Given the description of an element on the screen output the (x, y) to click on. 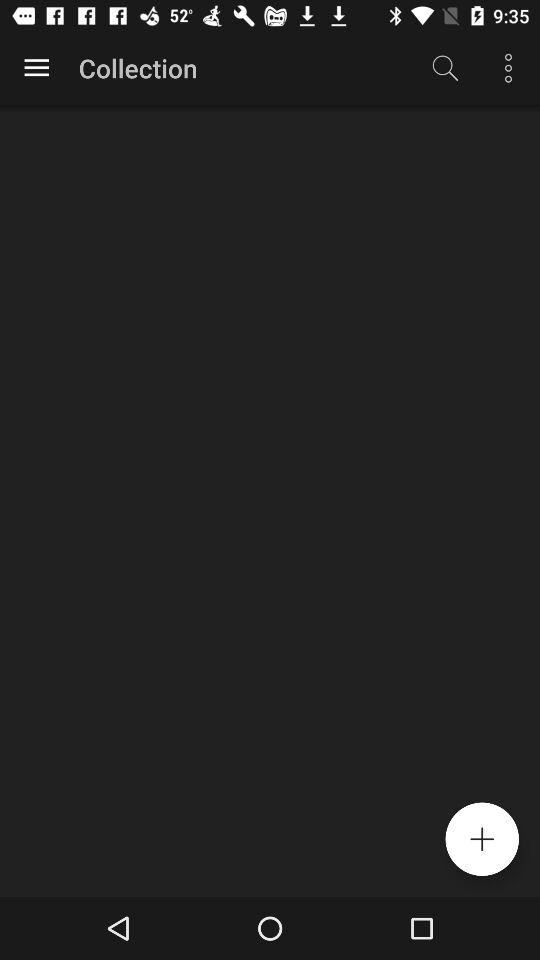
go to the collection option (36, 68)
